Given the description of an element on the screen output the (x, y) to click on. 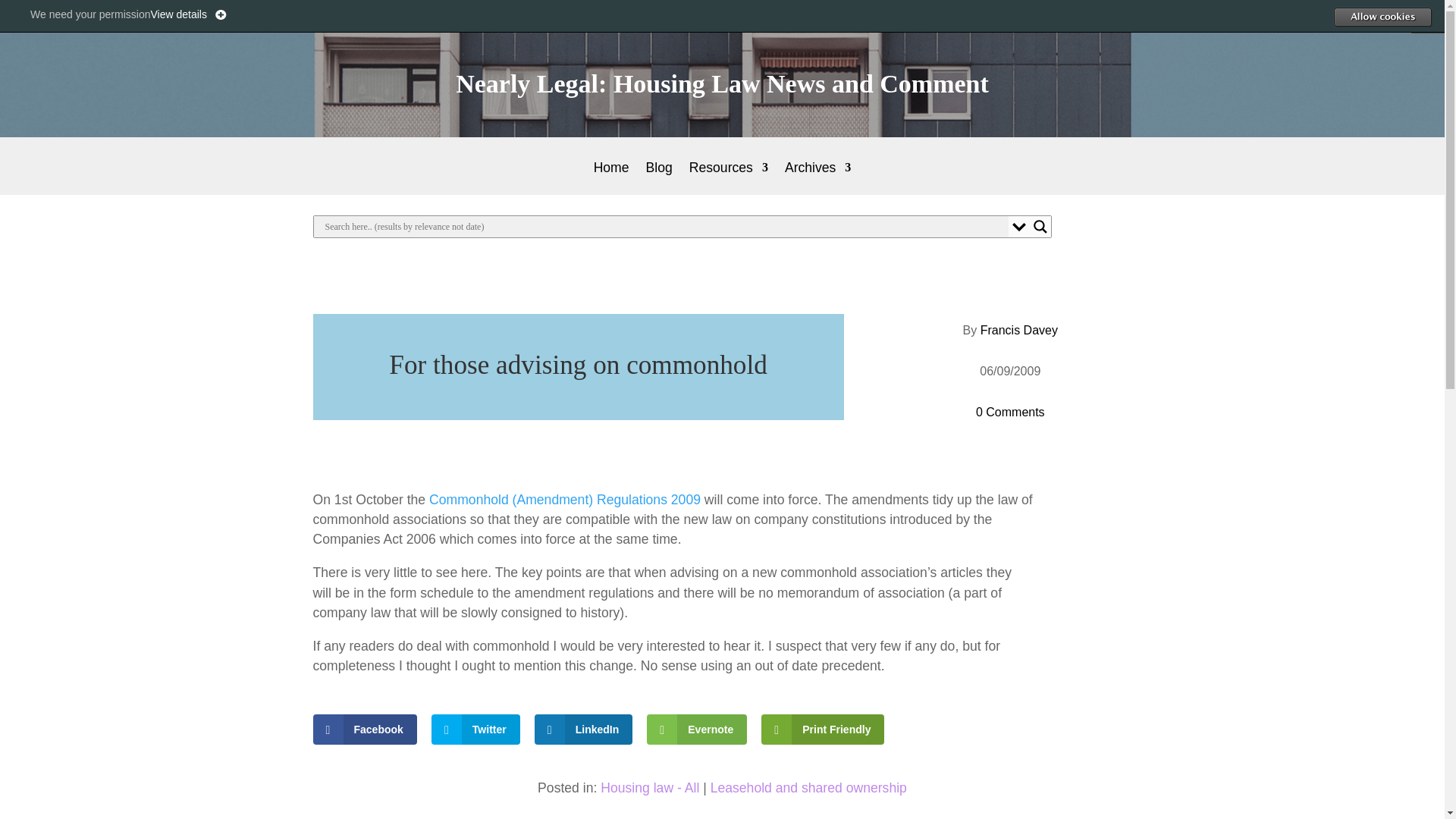
Archives (817, 178)
Resources (728, 178)
Blog (659, 178)
Home (611, 178)
